Given the description of an element on the screen output the (x, y) to click on. 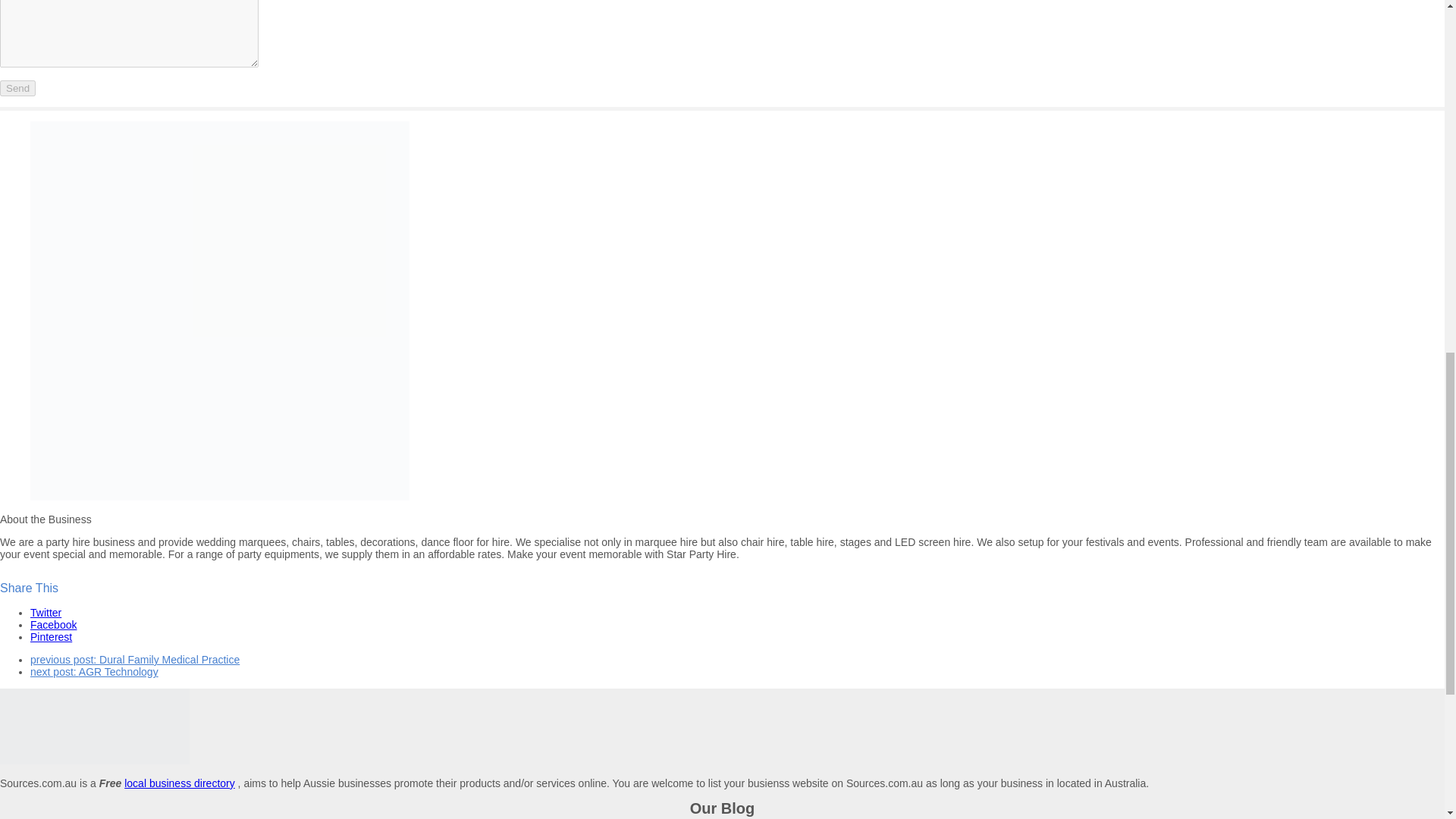
local business directory (178, 783)
Send (17, 88)
previous post: Dural Family Medical Practice (135, 659)
Send (17, 88)
Twitter (45, 612)
next post: AGR Technology (94, 671)
Facebook (53, 624)
Pinterest (50, 636)
